Given the description of an element on the screen output the (x, y) to click on. 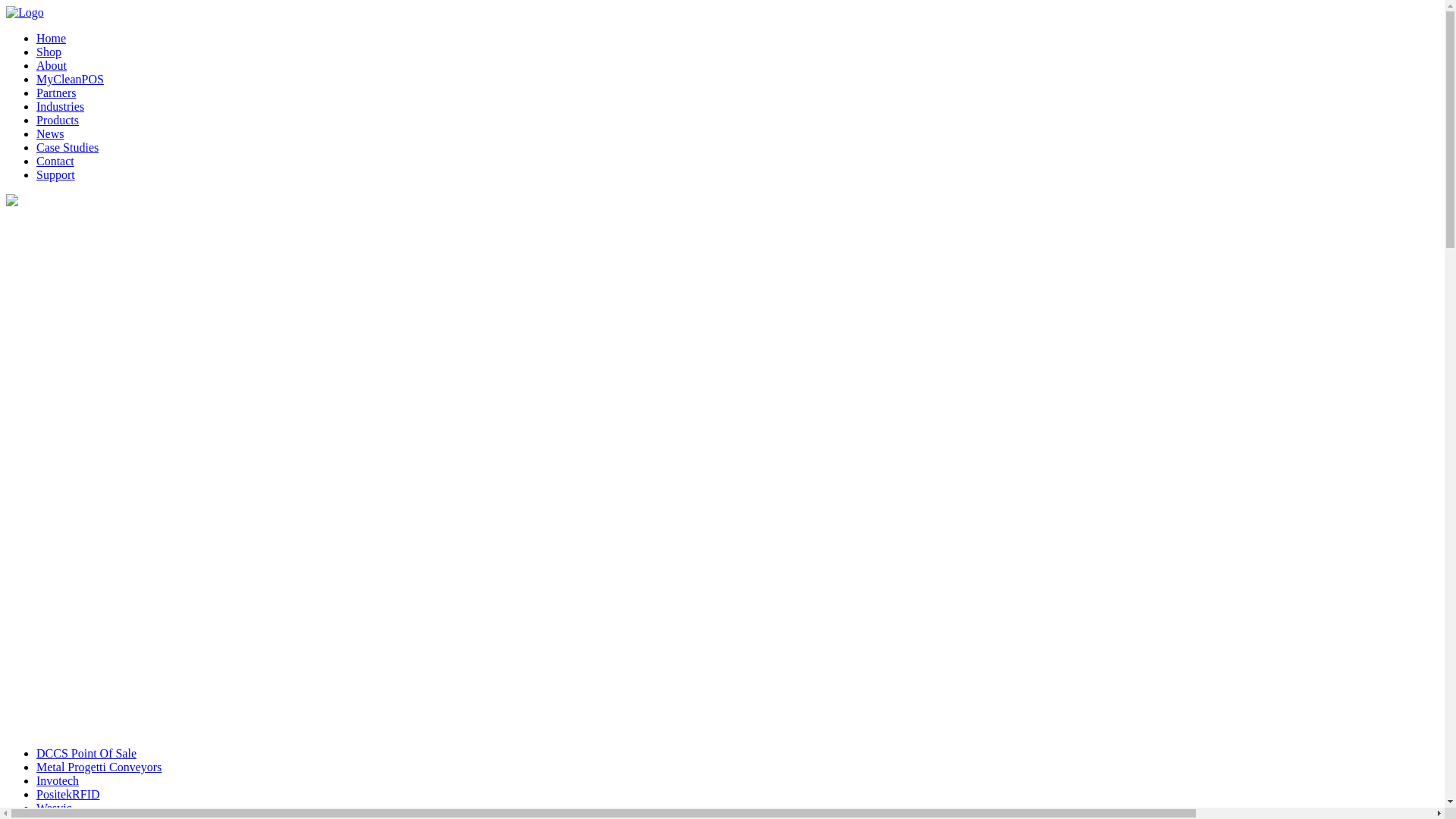
Industries Element type: text (60, 106)
News Element type: text (49, 133)
Case Studies Element type: text (67, 147)
DCCS Point Of Sale Element type: text (86, 752)
MyCleanPOS Element type: text (69, 78)
Partners Element type: text (55, 92)
Invotech Element type: text (57, 780)
PositekRFID Element type: text (68, 793)
Metal Progetti Conveyors Element type: text (98, 766)
About Element type: text (51, 65)
Wesvic Element type: text (54, 807)
Home Element type: text (50, 37)
Support Element type: text (55, 174)
Contact Element type: text (55, 160)
Products Element type: text (57, 119)
Shop Element type: text (48, 51)
